Given the description of an element on the screen output the (x, y) to click on. 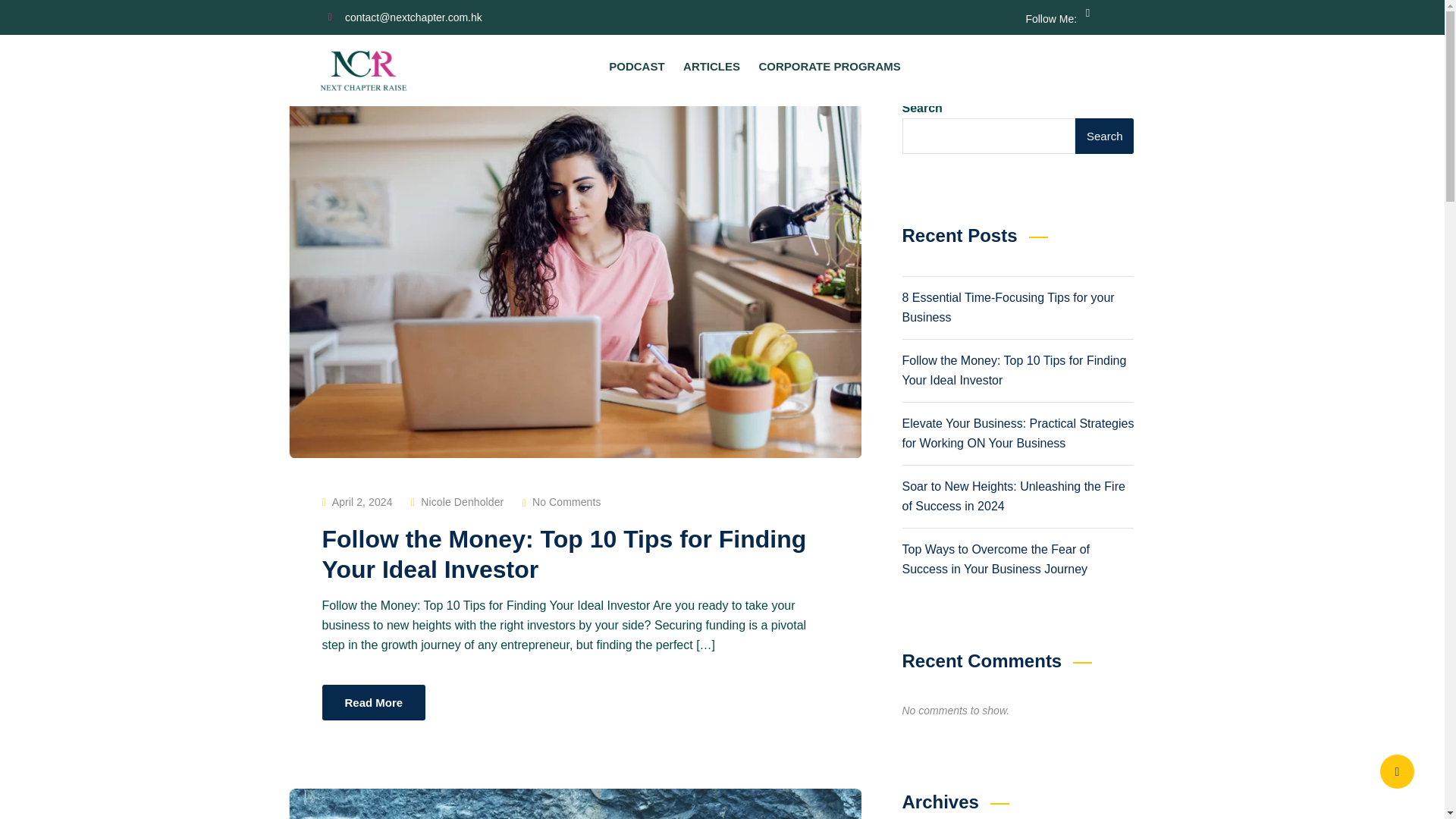
April 2, 2024 (362, 501)
PODCAST (636, 66)
Search (1104, 135)
Soar to New Heights: Unleashing the Fire of Success in 2024 (1013, 495)
Read More (373, 702)
8 Essential Time-Focusing Tips for your Business  (1008, 307)
